Given the description of an element on the screen output the (x, y) to click on. 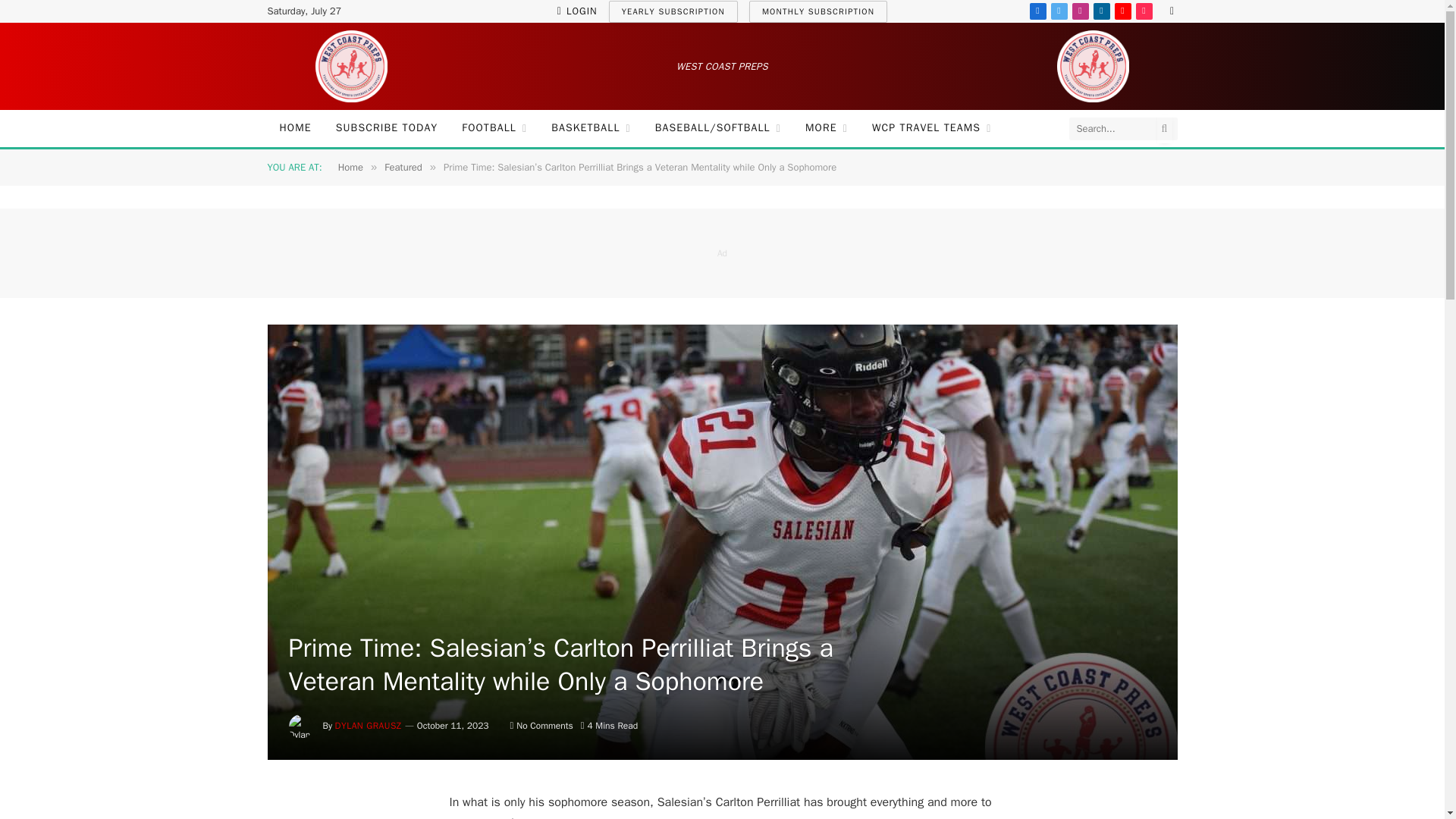
Instagram (1080, 11)
LOGIN (576, 11)
TikTok (1144, 11)
Facebook (1037, 11)
MONTHLY SUBSCRIPTION (817, 11)
West Coast Preps (1092, 65)
West Coast Preps (350, 65)
LinkedIn (1101, 11)
YouTube (1123, 11)
Switch to Dark Design - easier on eyes. (1169, 10)
Posts by Dylan Grausz (367, 725)
YEARLY SUBSCRIPTION (673, 11)
